Given the description of an element on the screen output the (x, y) to click on. 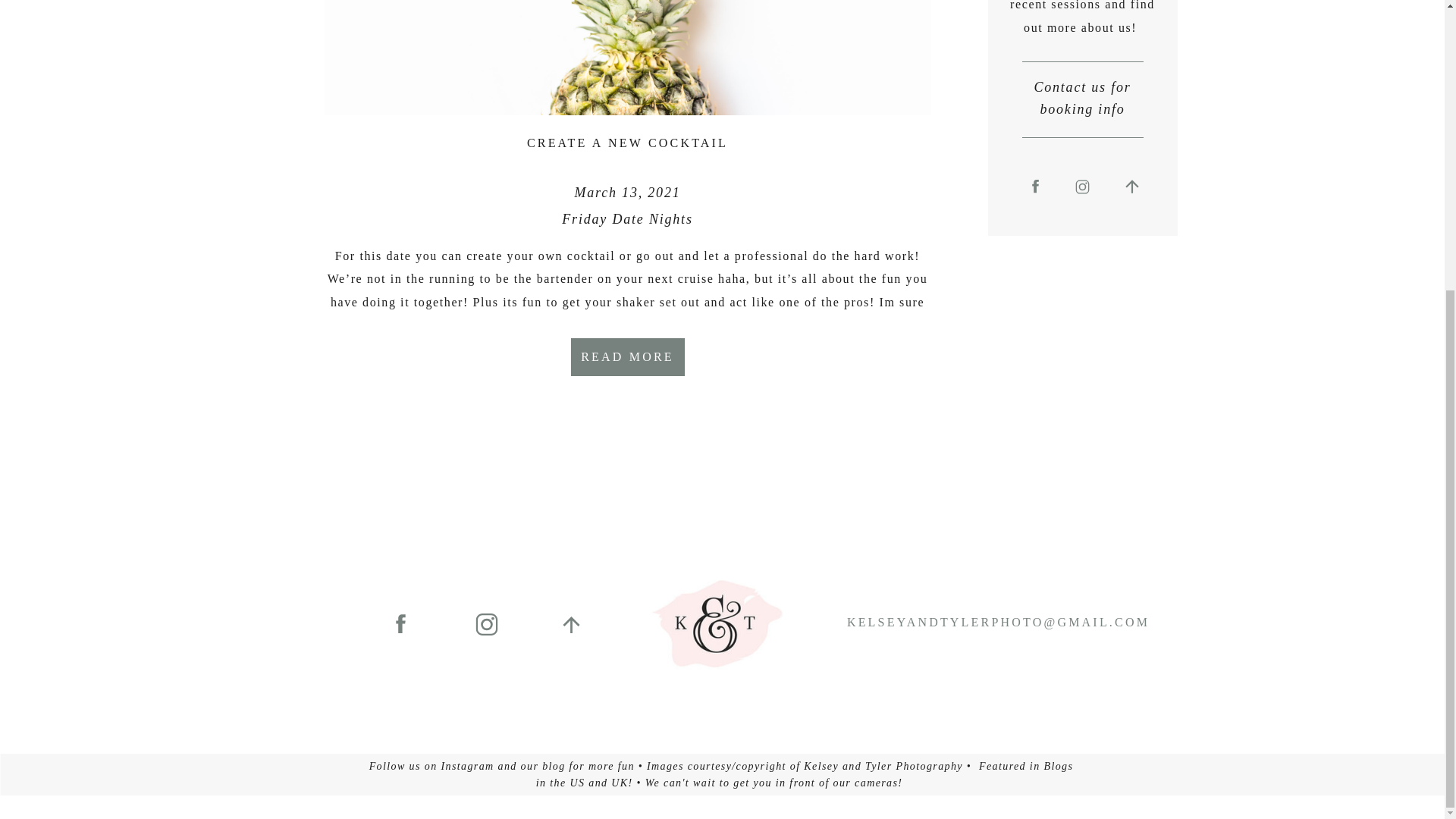
READ MORE (627, 356)
Kelsey and Tyler Photography (882, 766)
CREATE A NEW COCKTAIL (627, 142)
Create a new cocktail (627, 57)
Contact us for booking info (1082, 98)
Friday Date Nights (627, 218)
Create a new cocktail (627, 356)
